Given the description of an element on the screen output the (x, y) to click on. 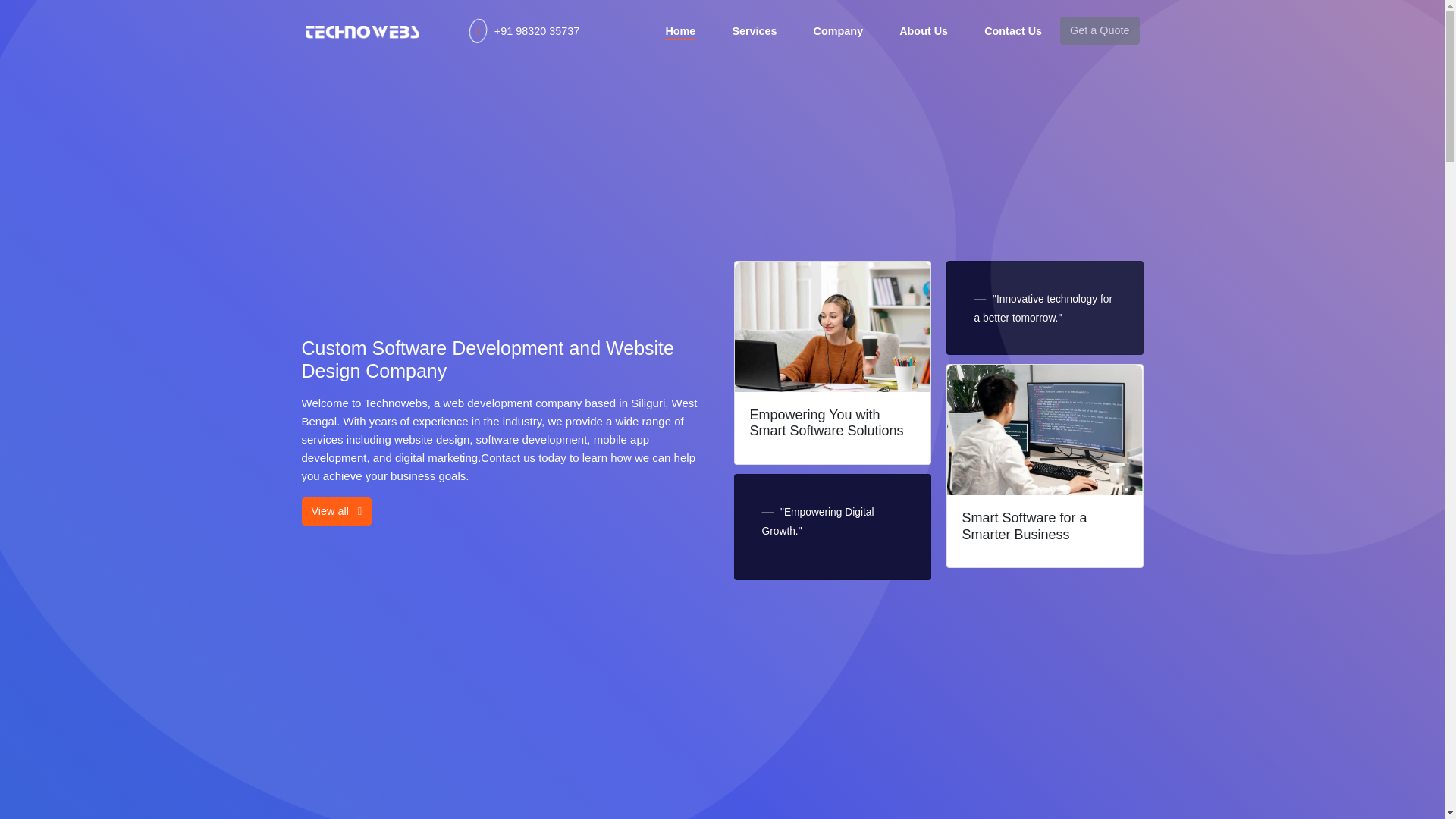
About Us (923, 30)
Home (679, 30)
Company (838, 30)
View all (336, 511)
Contact Us (1012, 30)
Services (753, 30)
Get a Quote (1098, 30)
